Given the description of an element on the screen output the (x, y) to click on. 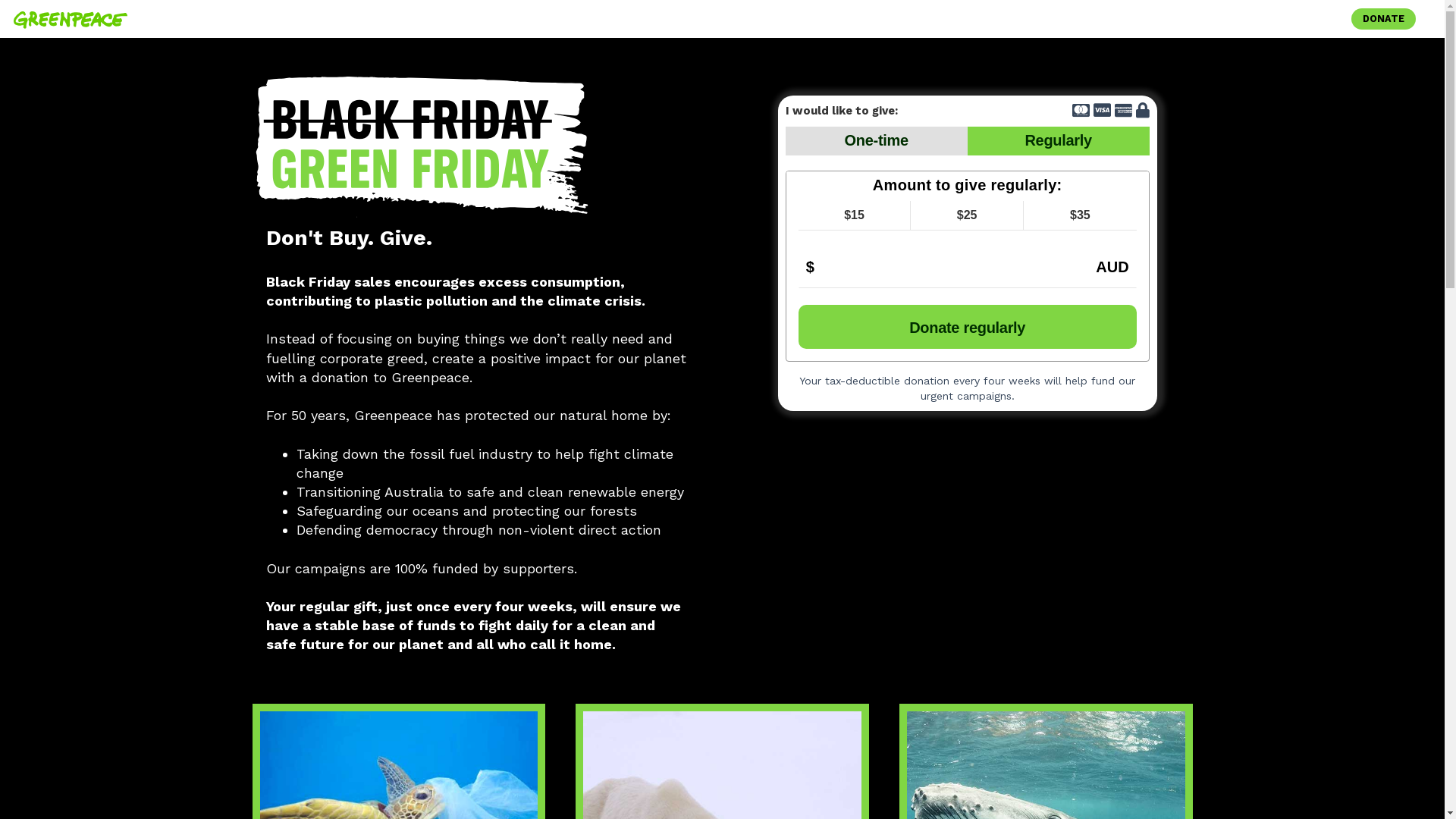
Please enter a valid amount ($5 or more) Element type: hover (967, 265)
DONATE Element type: text (1383, 18)
Donate regularly Element type: text (967, 326)
One-time Element type: text (876, 140)
Green Friday Element type: hover (422, 147)
DONATE Element type: text (1383, 18)
Regularly Element type: text (1058, 140)
